Given the description of an element on the screen output the (x, y) to click on. 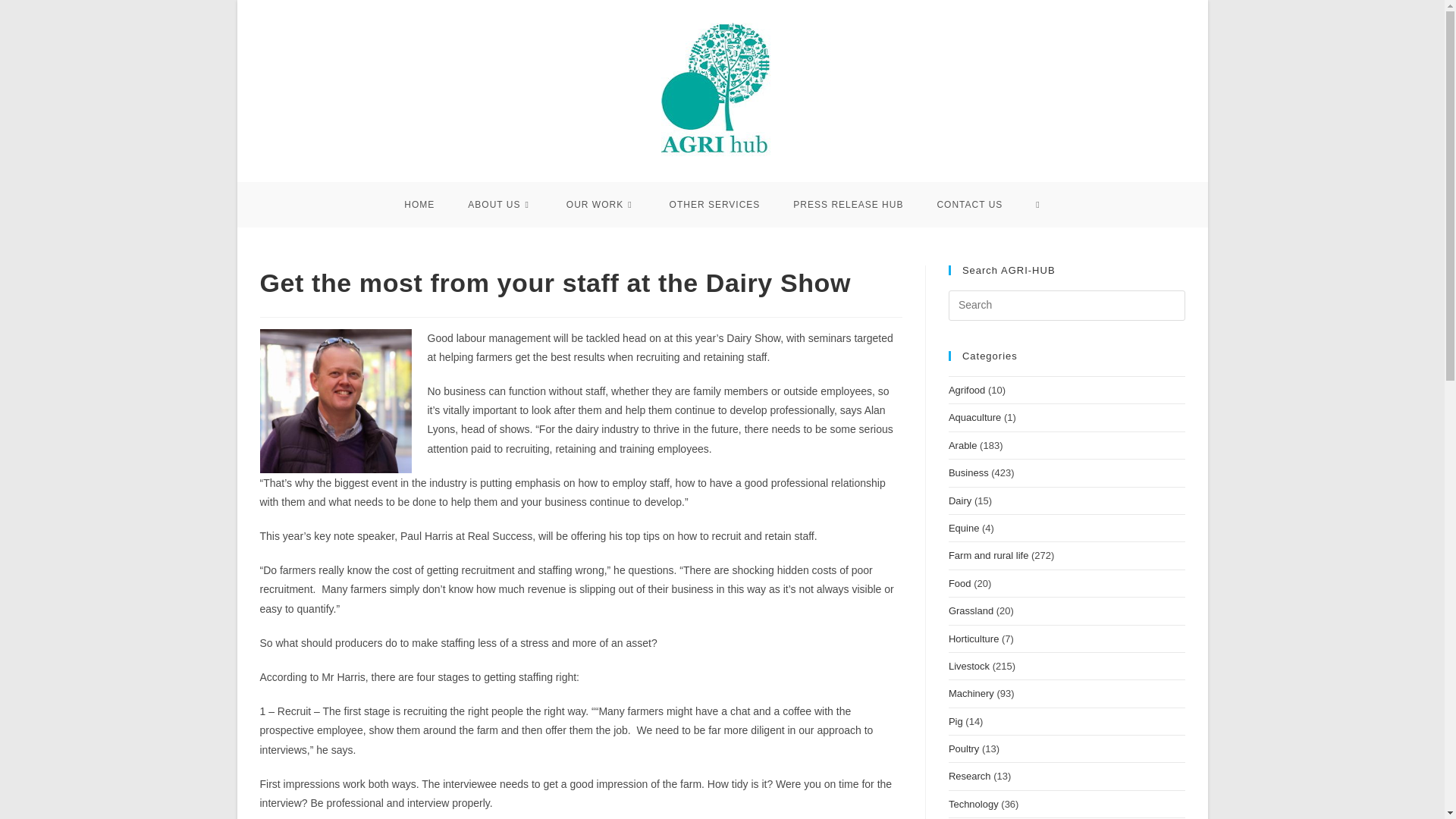
OTHER SERVICES (714, 204)
OUR WORK (601, 204)
CONTACT US (969, 204)
PRESS RELEASE HUB (848, 204)
ABOUT US (500, 204)
HOME (419, 204)
